Given the description of an element on the screen output the (x, y) to click on. 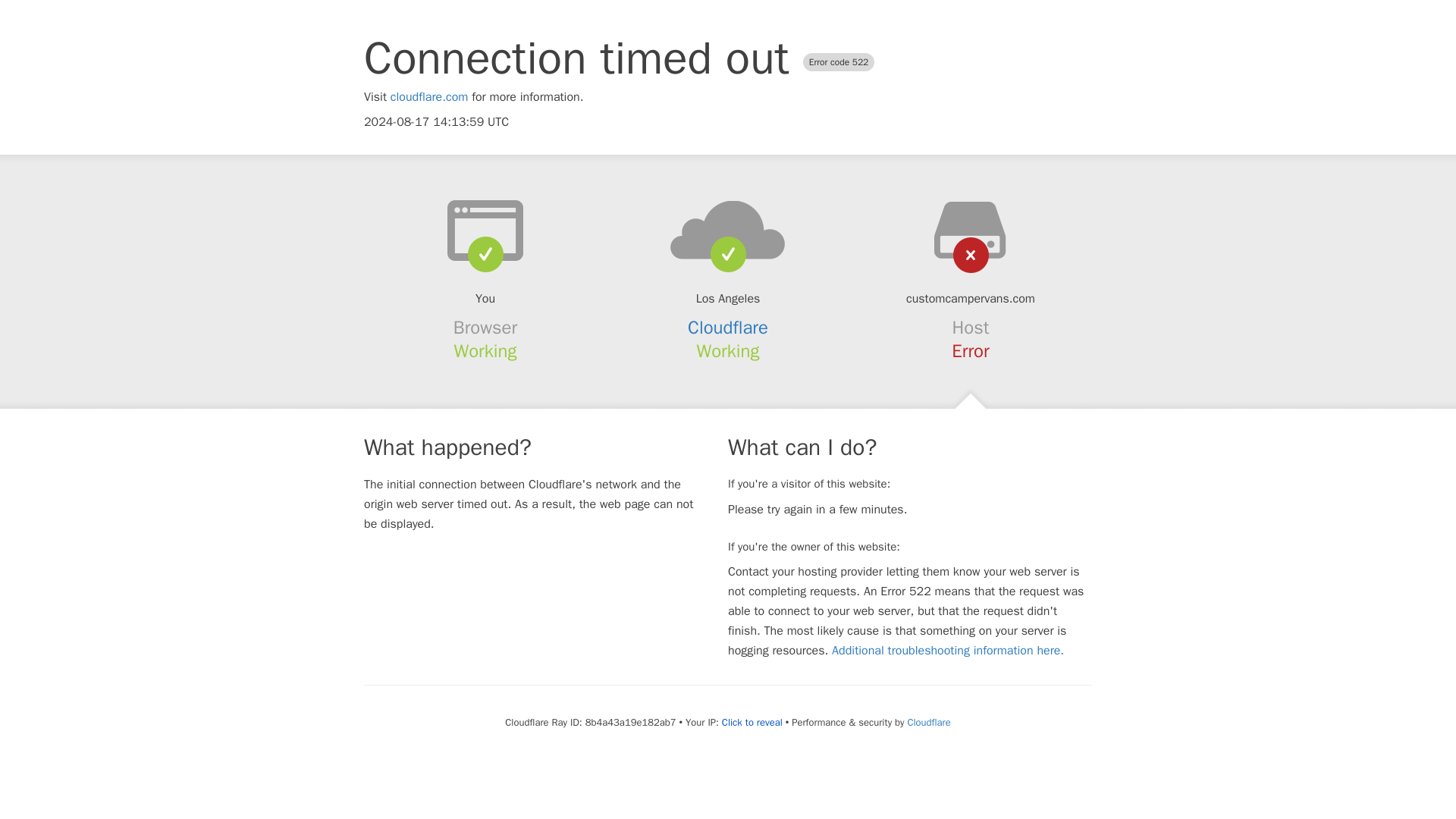
cloudflare.com (429, 96)
Click to reveal (752, 722)
Additional troubleshooting information here. (947, 650)
Cloudflare (727, 327)
Cloudflare (928, 721)
